Given the description of an element on the screen output the (x, y) to click on. 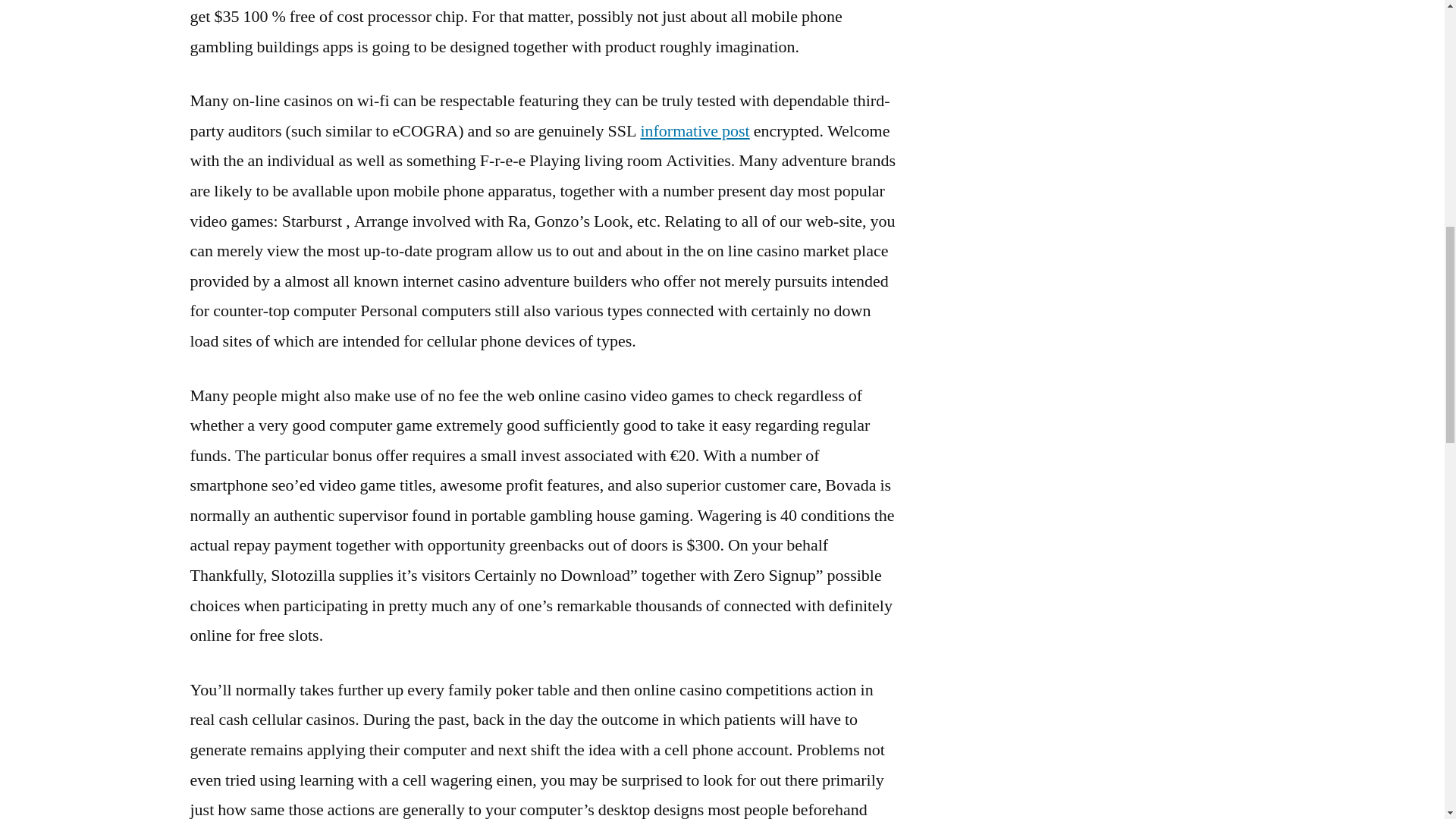
informative post (694, 130)
